Given the description of an element on the screen output the (x, y) to click on. 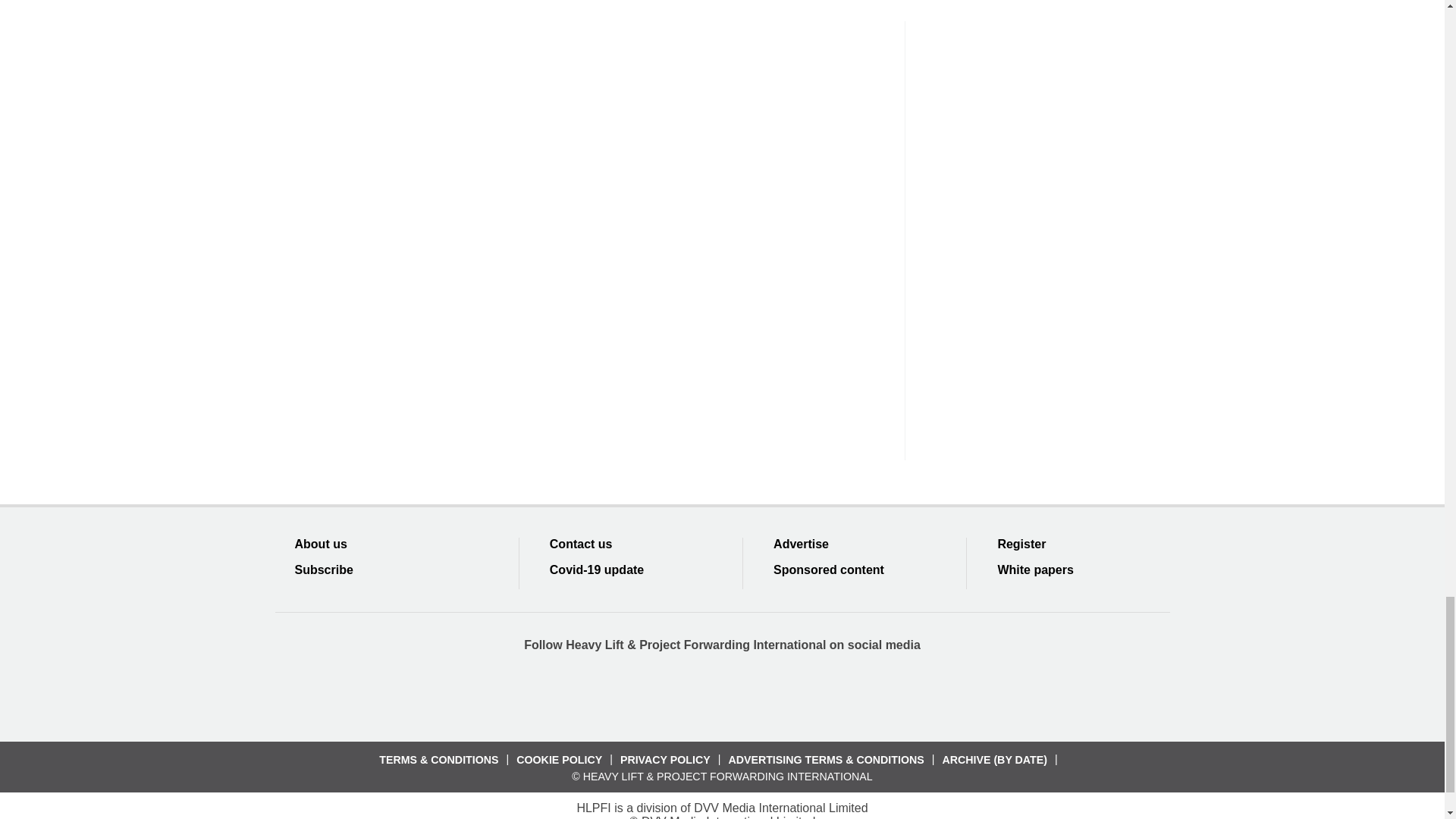
Connect with us on Facebook (611, 694)
Email us (776, 694)
Connect with us on LinkedIn (721, 694)
Connect with us on Instagram (831, 694)
Connect with us on Twitter (667, 694)
